Given the description of an element on the screen output the (x, y) to click on. 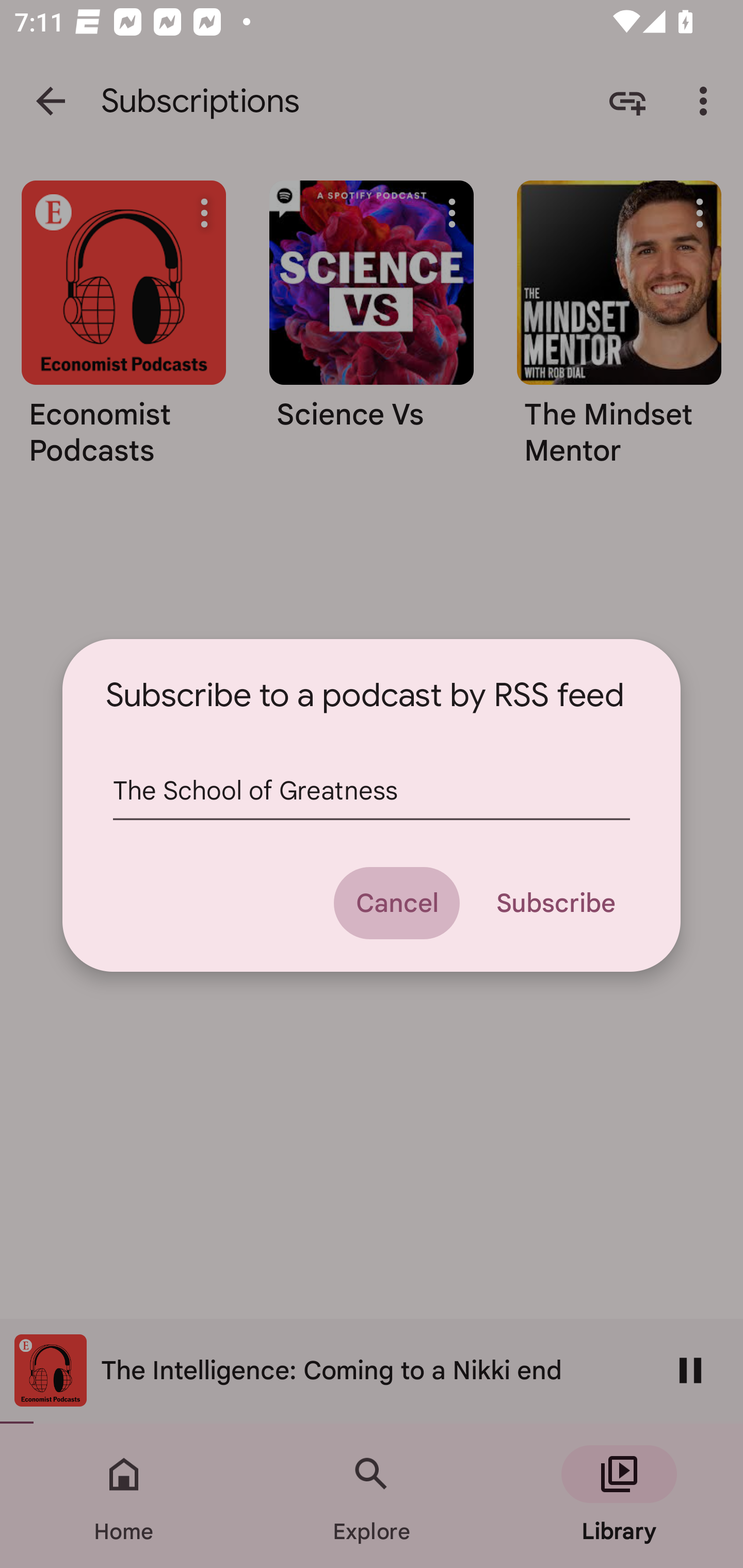
The School of Greatness (371, 790)
Cancel (396, 903)
Subscribe (555, 903)
